Given the description of an element on the screen output the (x, y) to click on. 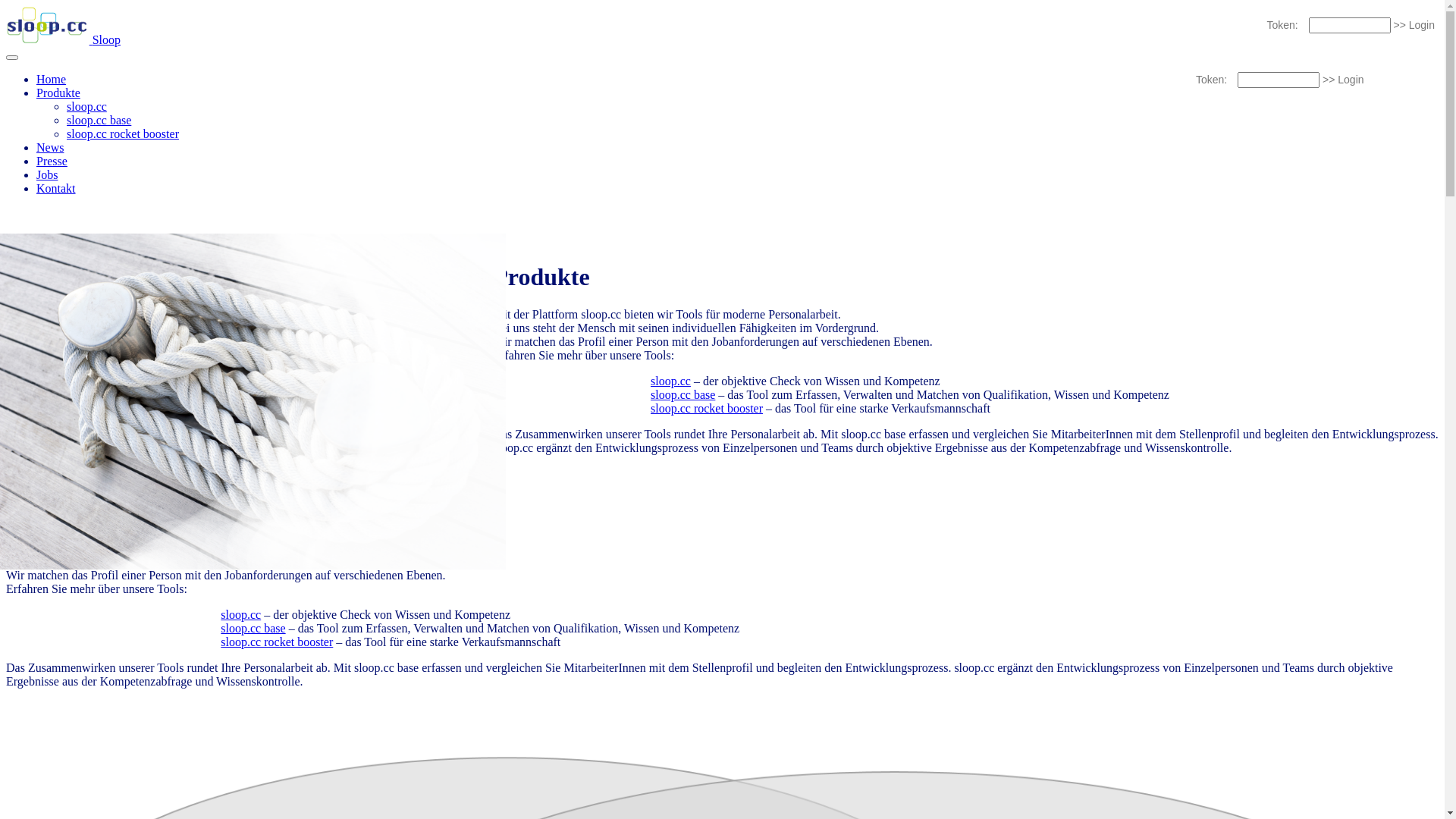
Login Element type: text (1421, 24)
>> Element type: text (1328, 79)
sloop.cc base Element type: text (682, 394)
sloop.cc base Element type: text (252, 627)
Home Element type: text (50, 78)
sloop.cc Element type: text (670, 380)
>> Element type: text (1399, 24)
Login Element type: text (1350, 79)
News Element type: text (49, 147)
Produkte Element type: text (58, 92)
Kontakt Element type: text (55, 188)
Sloop Element type: text (63, 39)
sloop.cc rocket booster Element type: text (706, 407)
sloop.cc rocket booster Element type: text (122, 133)
sloop.cc rocket booster Element type: text (276, 641)
Presse Element type: text (51, 160)
sloop.cc base Element type: text (98, 119)
Jobs Element type: text (46, 174)
sloop.cc Element type: text (240, 614)
sloop.cc Element type: text (86, 106)
